Given the description of an element on the screen output the (x, y) to click on. 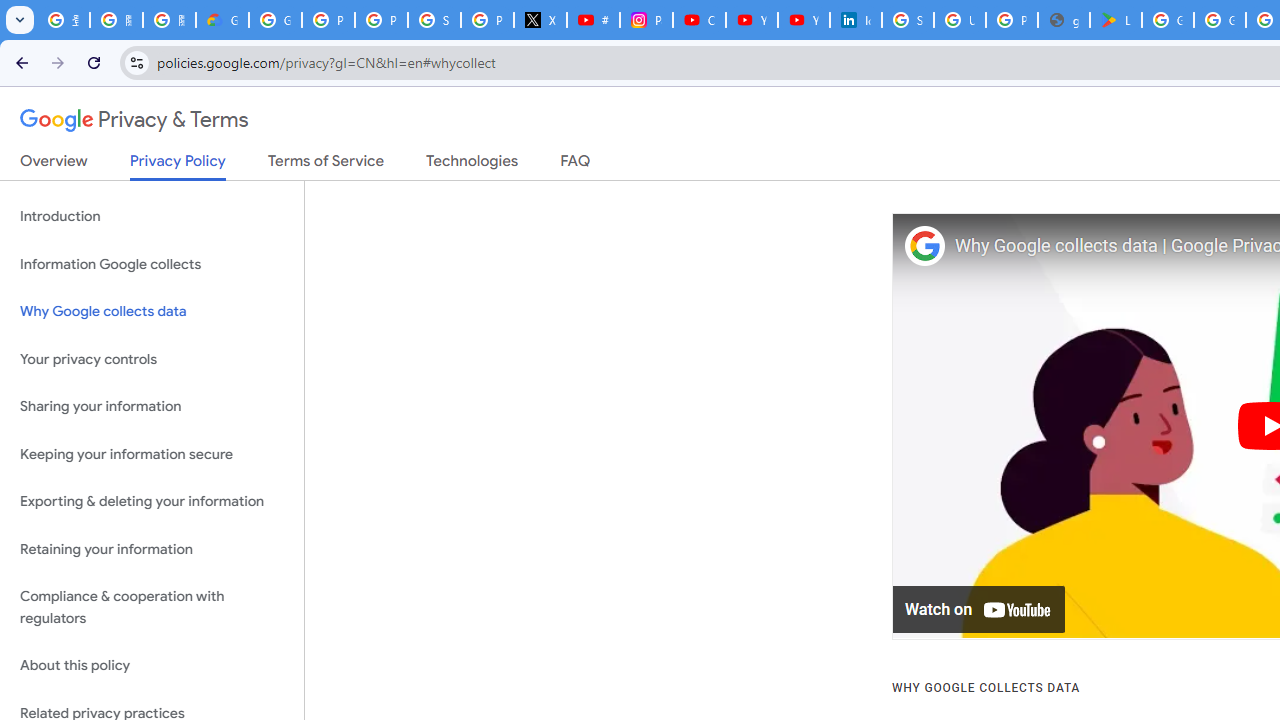
About this policy (152, 666)
Sharing your information (152, 407)
FAQ (575, 165)
Sign in - Google Accounts (434, 20)
Why Google collects data (152, 312)
Introduction (152, 216)
Technologies (472, 165)
Photo image of Google (924, 246)
Watch on YouTube (979, 610)
Information Google collects (152, 263)
